Given the description of an element on the screen output the (x, y) to click on. 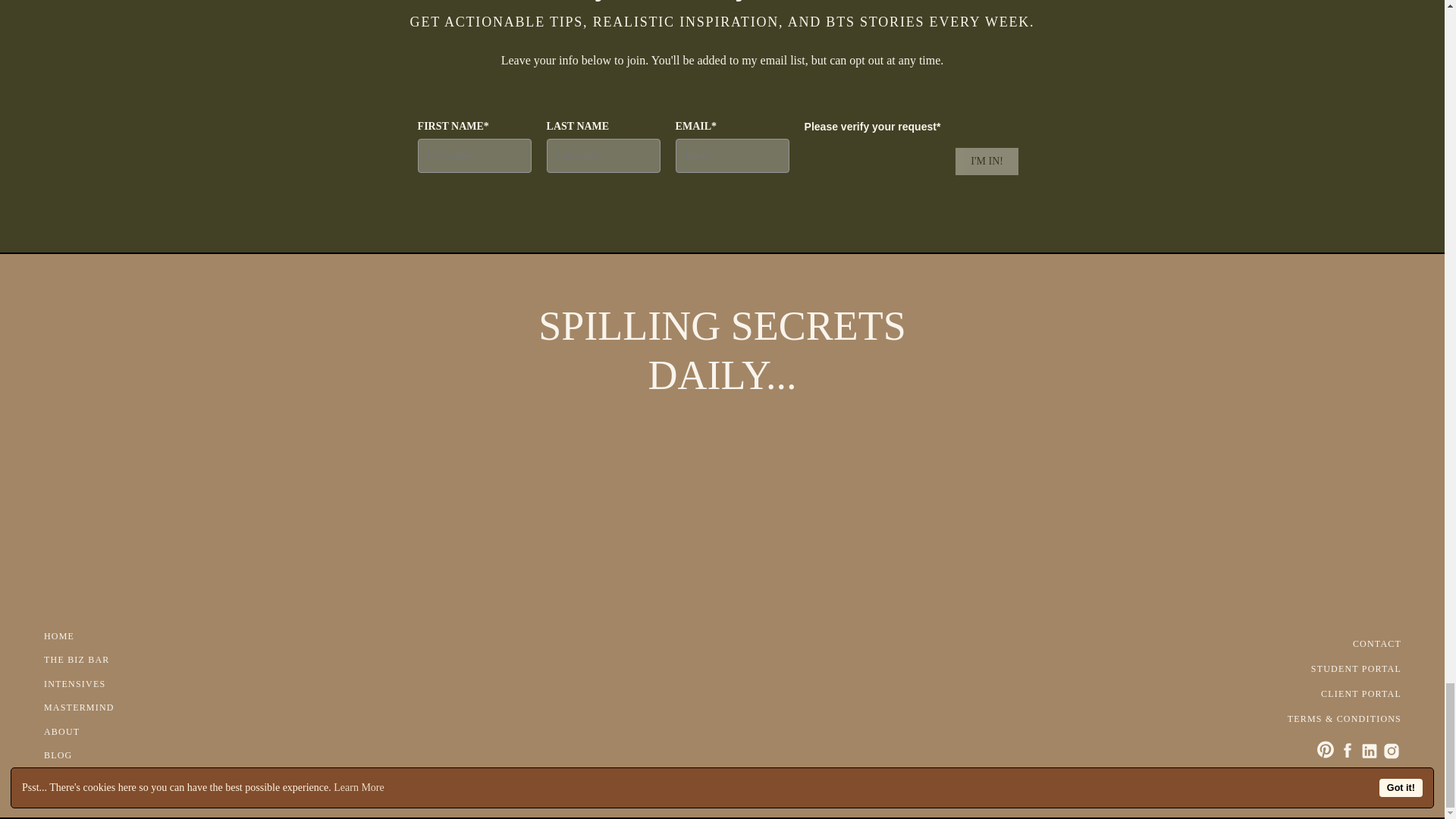
I'M IN! (986, 161)
